Given the description of an element on the screen output the (x, y) to click on. 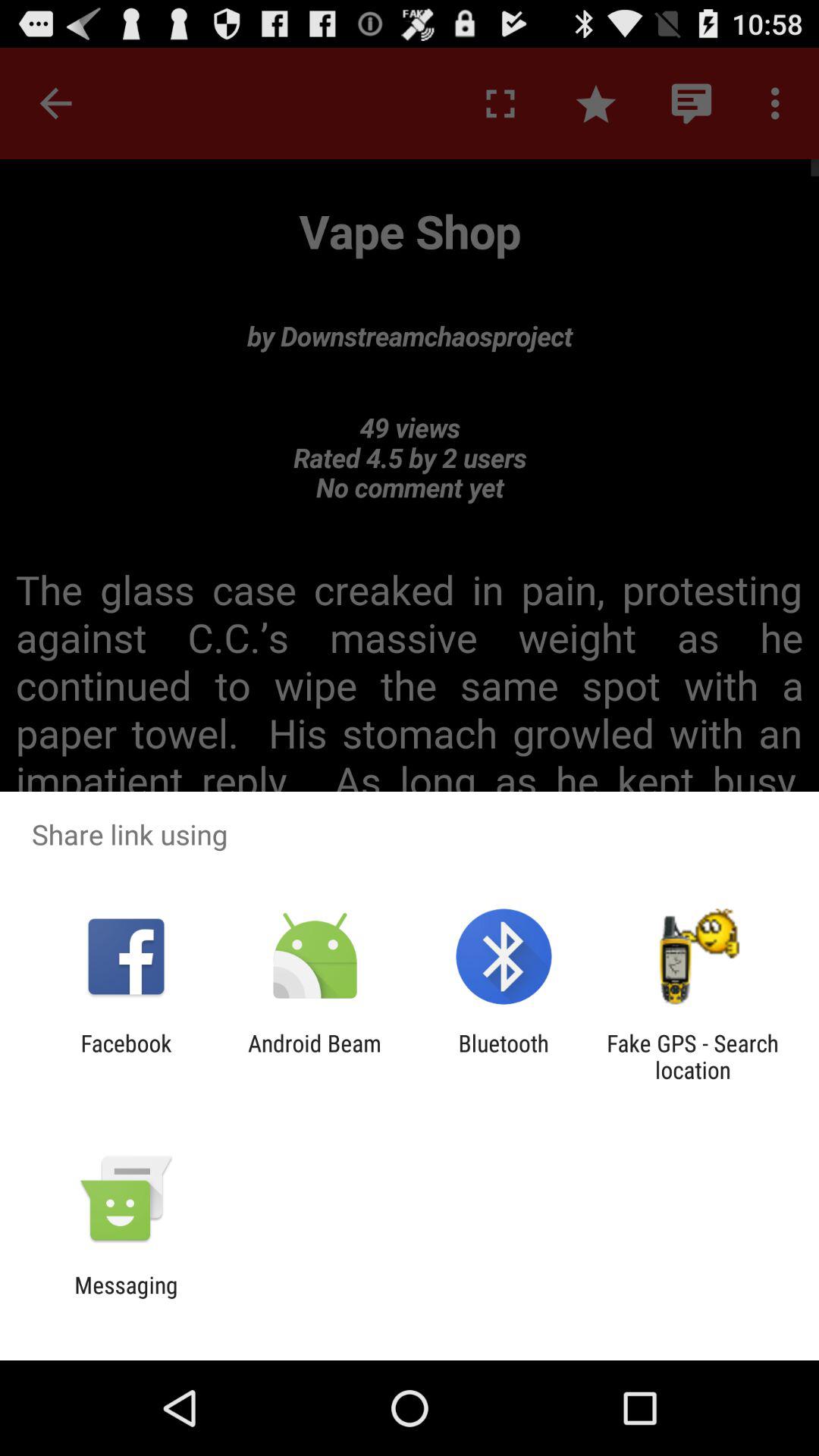
choose the app to the left of android beam (125, 1056)
